Given the description of an element on the screen output the (x, y) to click on. 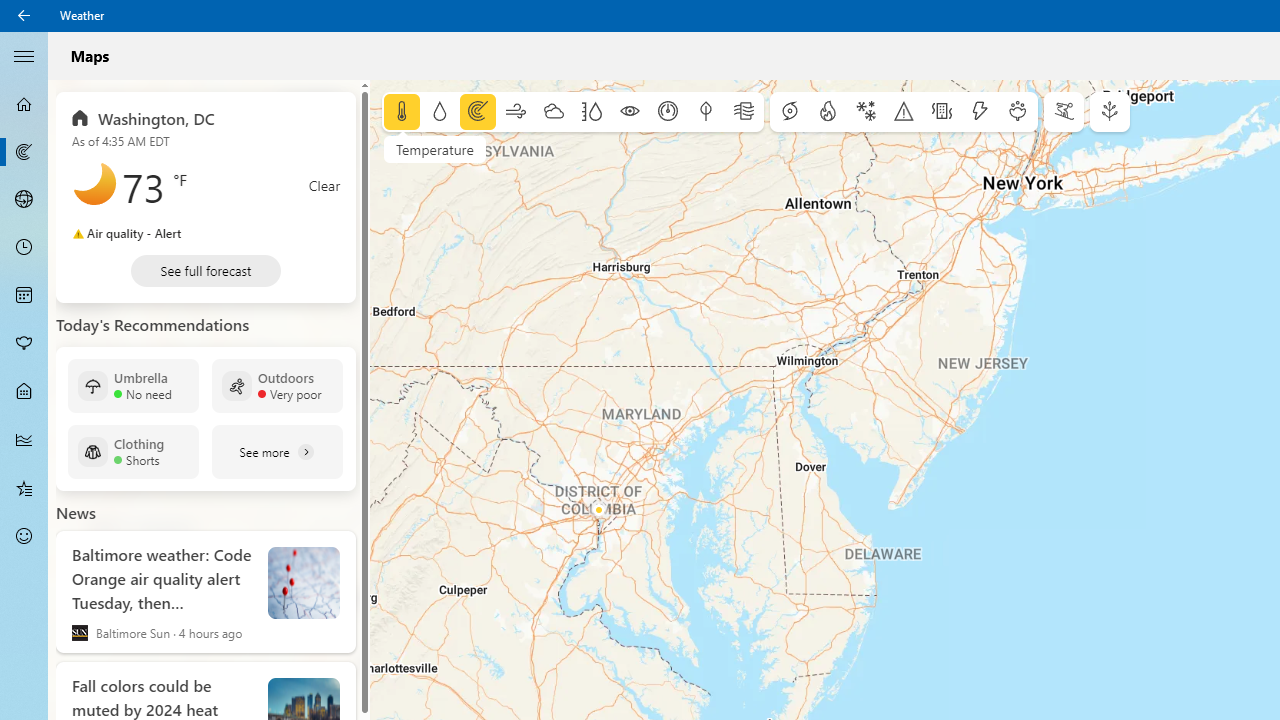
Forecast - Not Selected (24, 103)
Favorites - Not Selected (24, 487)
Historical Weather - Not Selected (24, 439)
Maps - Not Selected (24, 151)
Send Feedback - Not Selected (24, 535)
Maps - Not Selected (24, 151)
Collapse Navigation (24, 55)
